Given the description of an element on the screen output the (x, y) to click on. 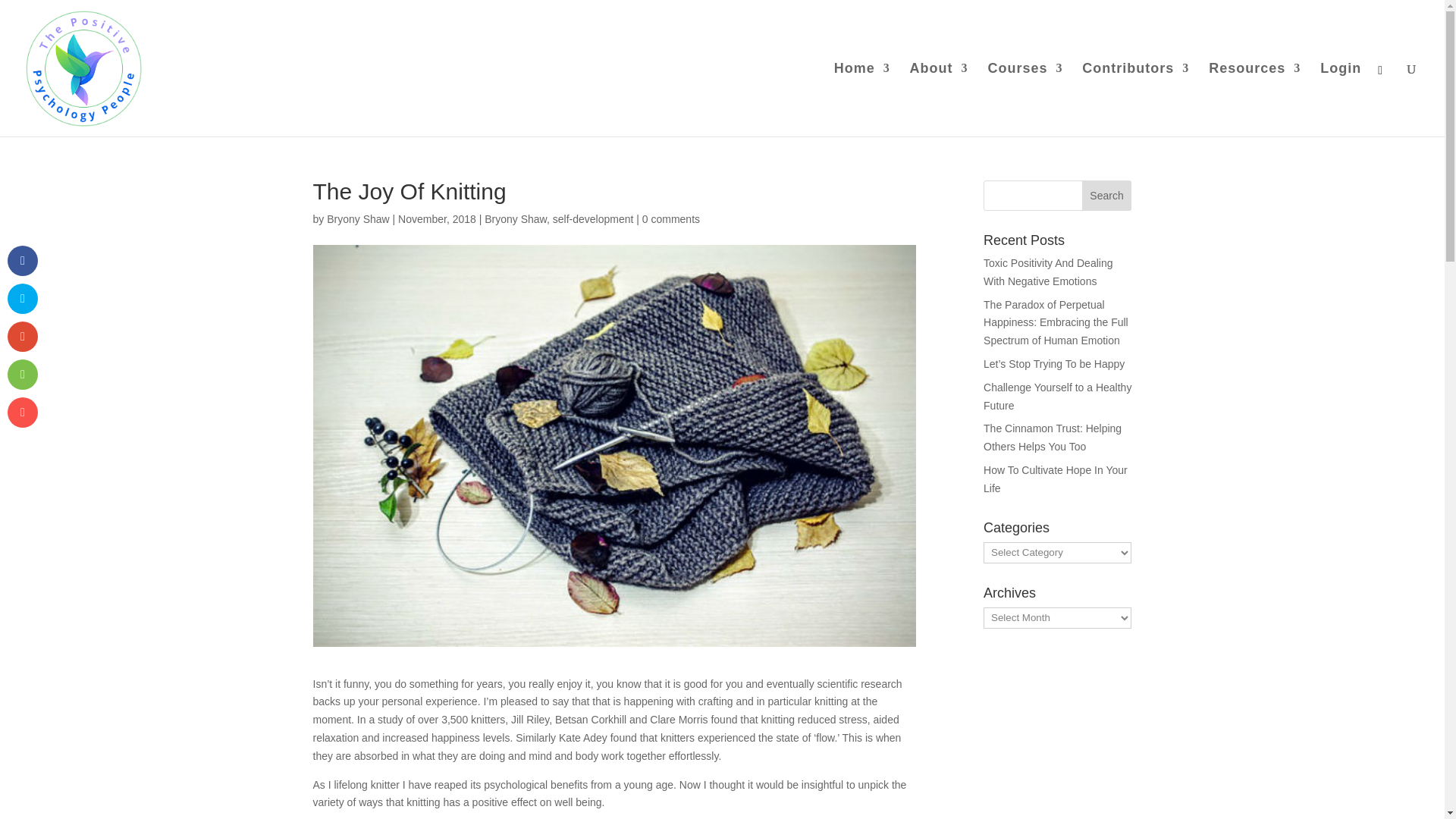
Search (1106, 195)
Courses (1024, 99)
Contributors (1135, 99)
Posts by Bryony Shaw (357, 218)
Resources (1254, 99)
